Given the description of an element on the screen output the (x, y) to click on. 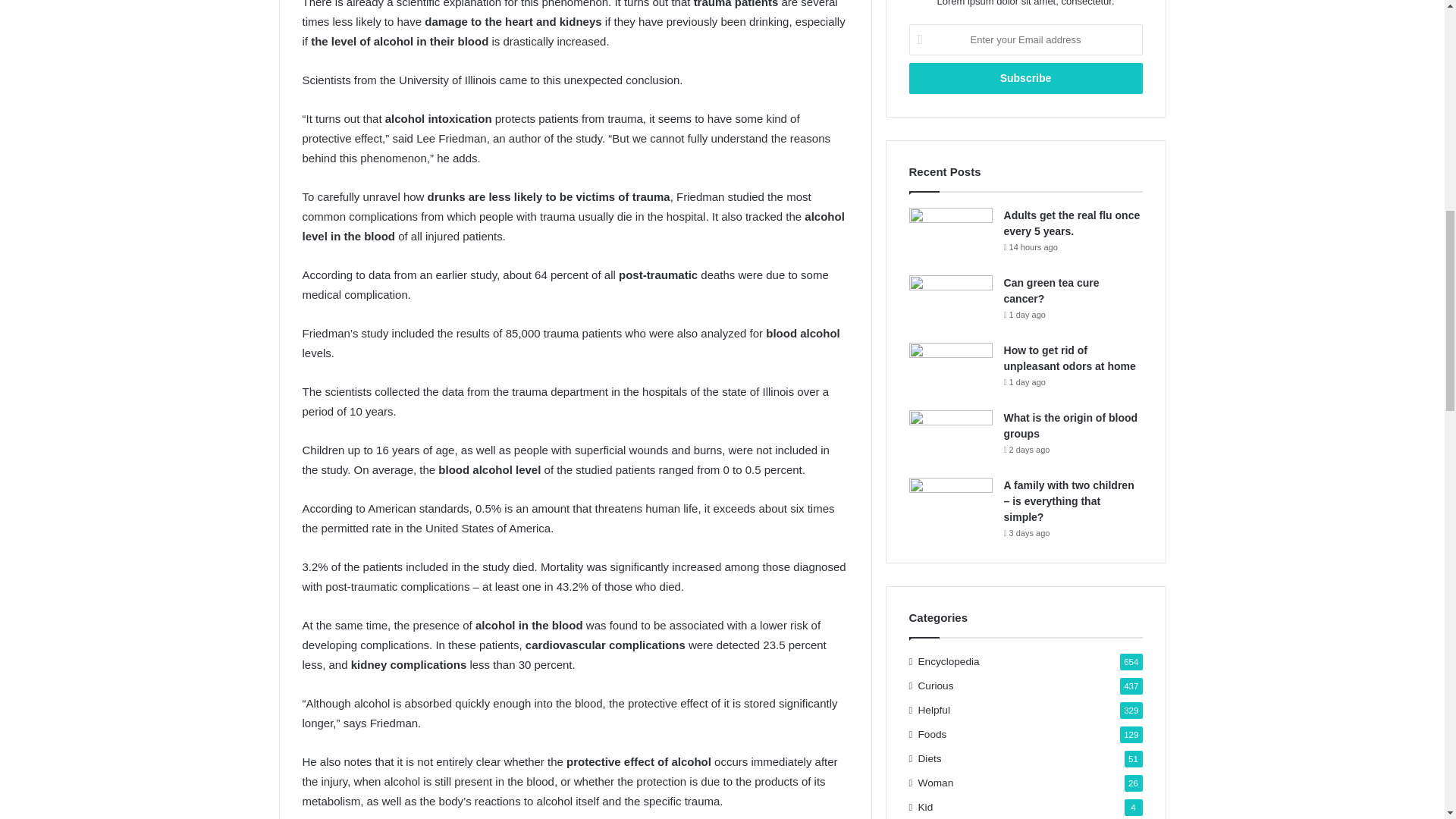
Subscribe (1025, 78)
